Given the description of an element on the screen output the (x, y) to click on. 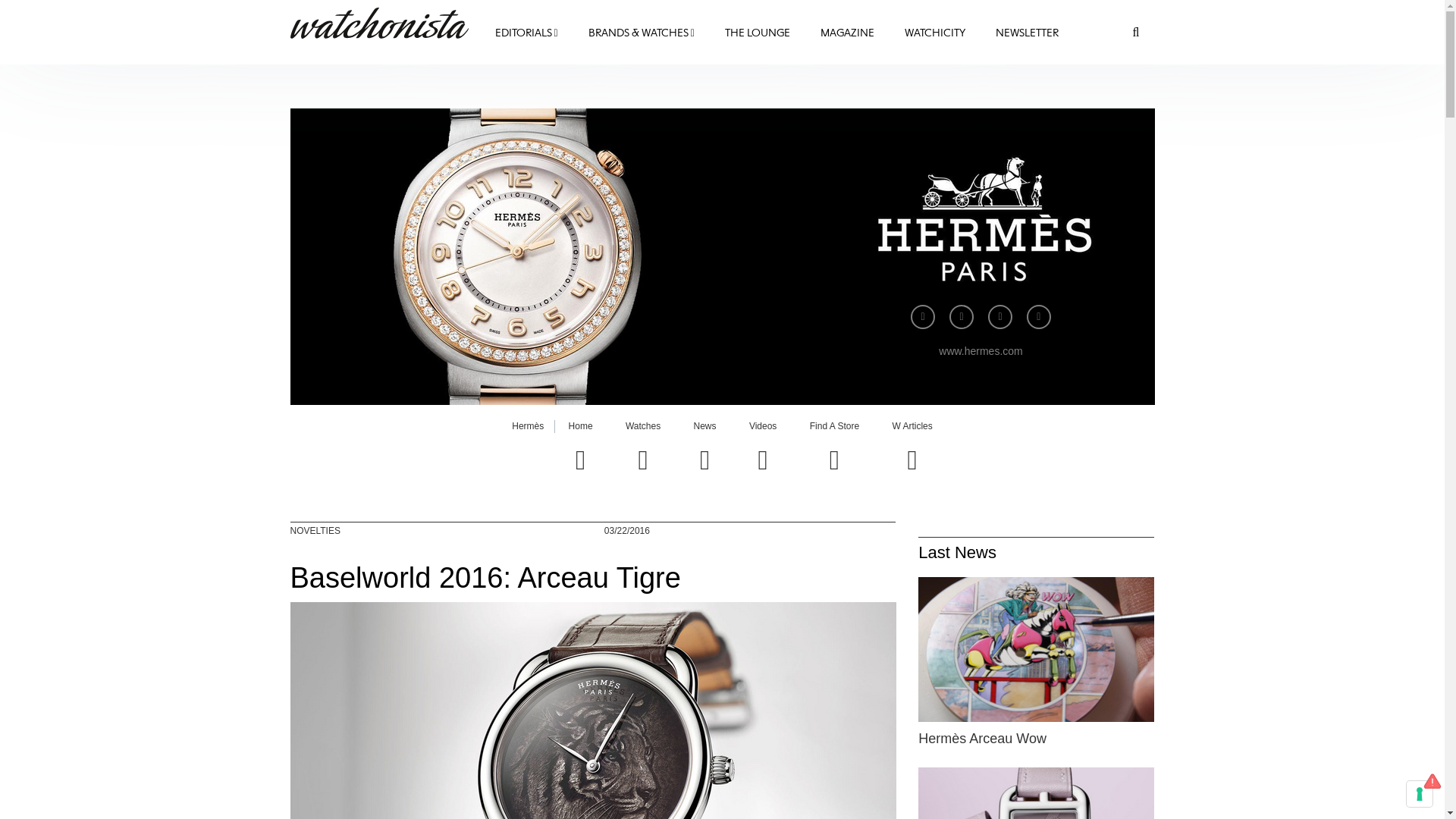
Editorials (525, 34)
Home (384, 22)
EDITORIALS (525, 34)
